Given the description of an element on the screen output the (x, y) to click on. 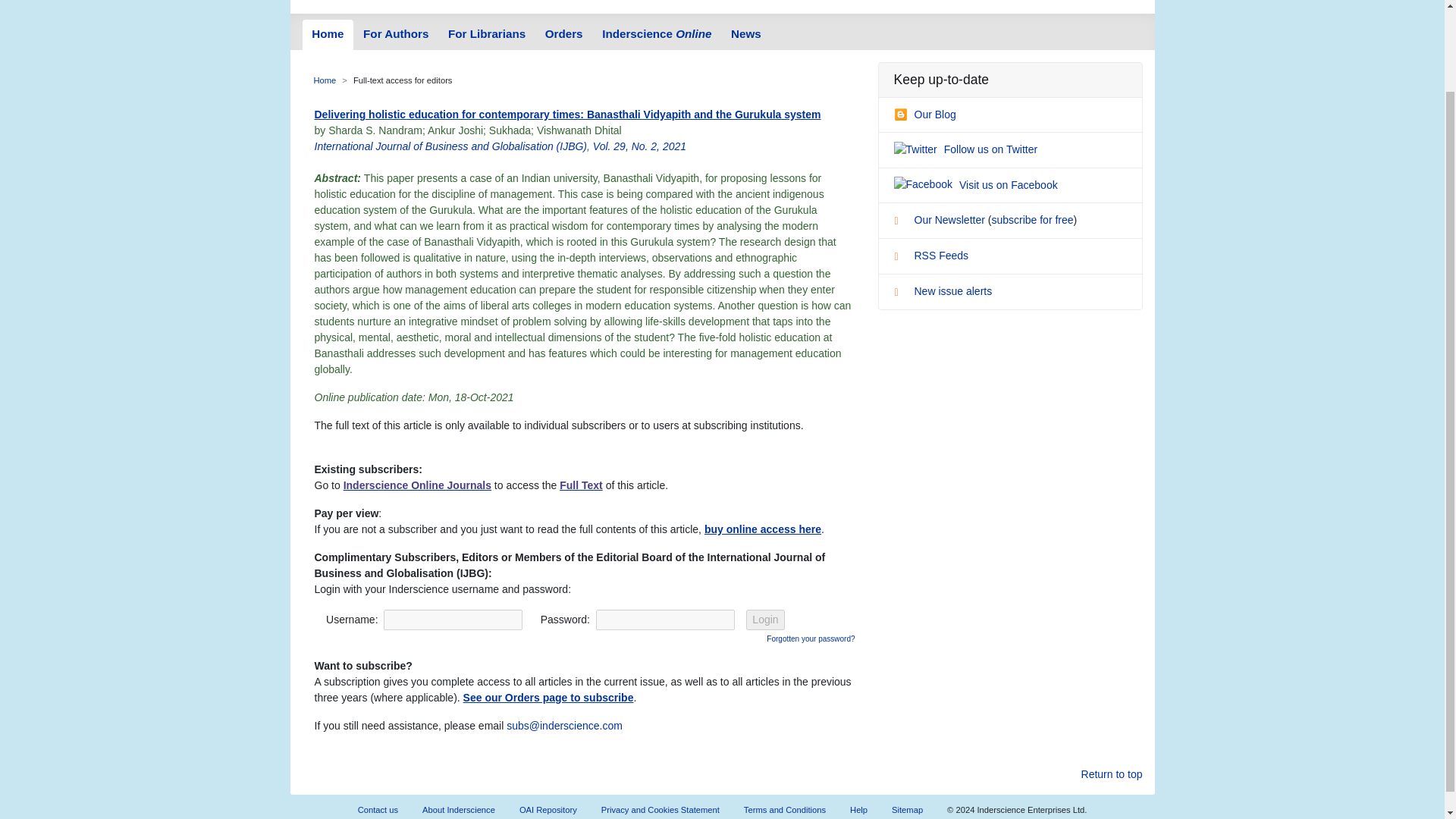
RSS (901, 258)
RSS Feeds (930, 255)
New issue alerts (942, 291)
Home (325, 80)
Login (764, 619)
Full Text (580, 485)
Follow us on Twitter (964, 149)
Our Newsletter (940, 219)
Return to the top of the page (1111, 774)
Orders (563, 34)
